Given the description of an element on the screen output the (x, y) to click on. 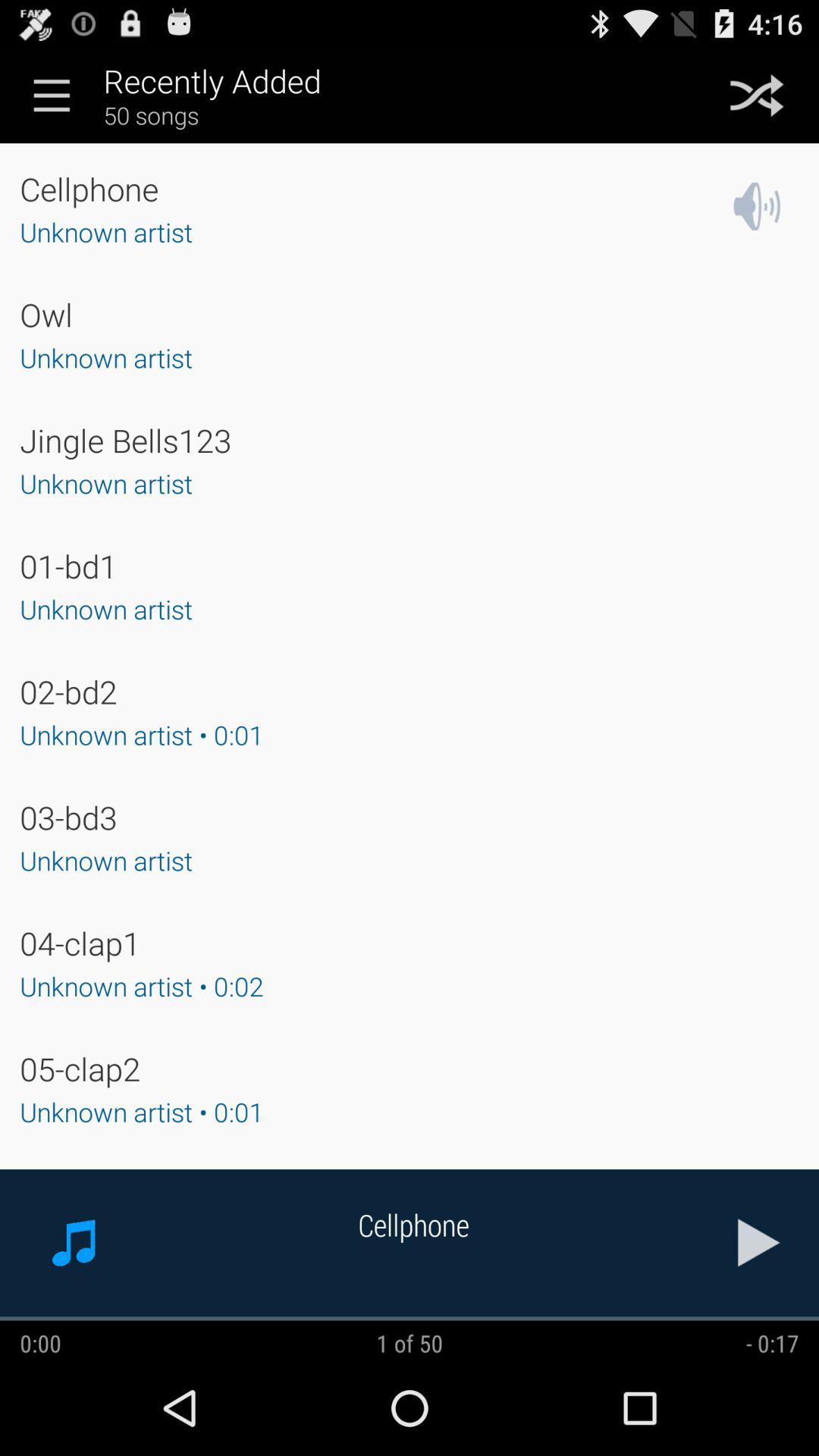
click icon next to recently added (756, 95)
